Given the description of an element on the screen output the (x, y) to click on. 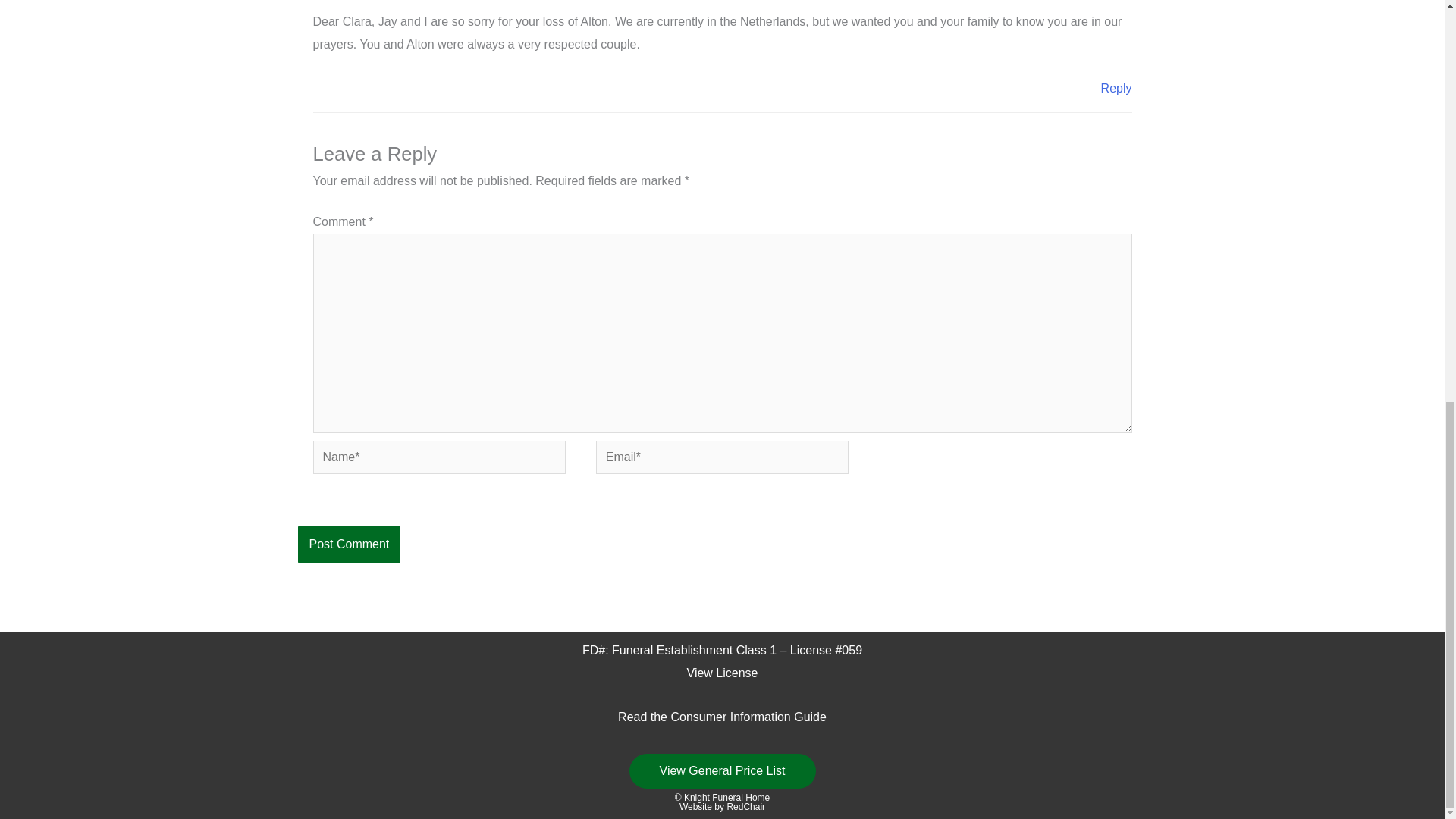
Post Comment (348, 544)
Post Comment (348, 544)
RedChair (745, 806)
View License (722, 672)
Reply (1116, 88)
Consumer Information Guide (747, 716)
View General Price List (721, 770)
